Given the description of an element on the screen output the (x, y) to click on. 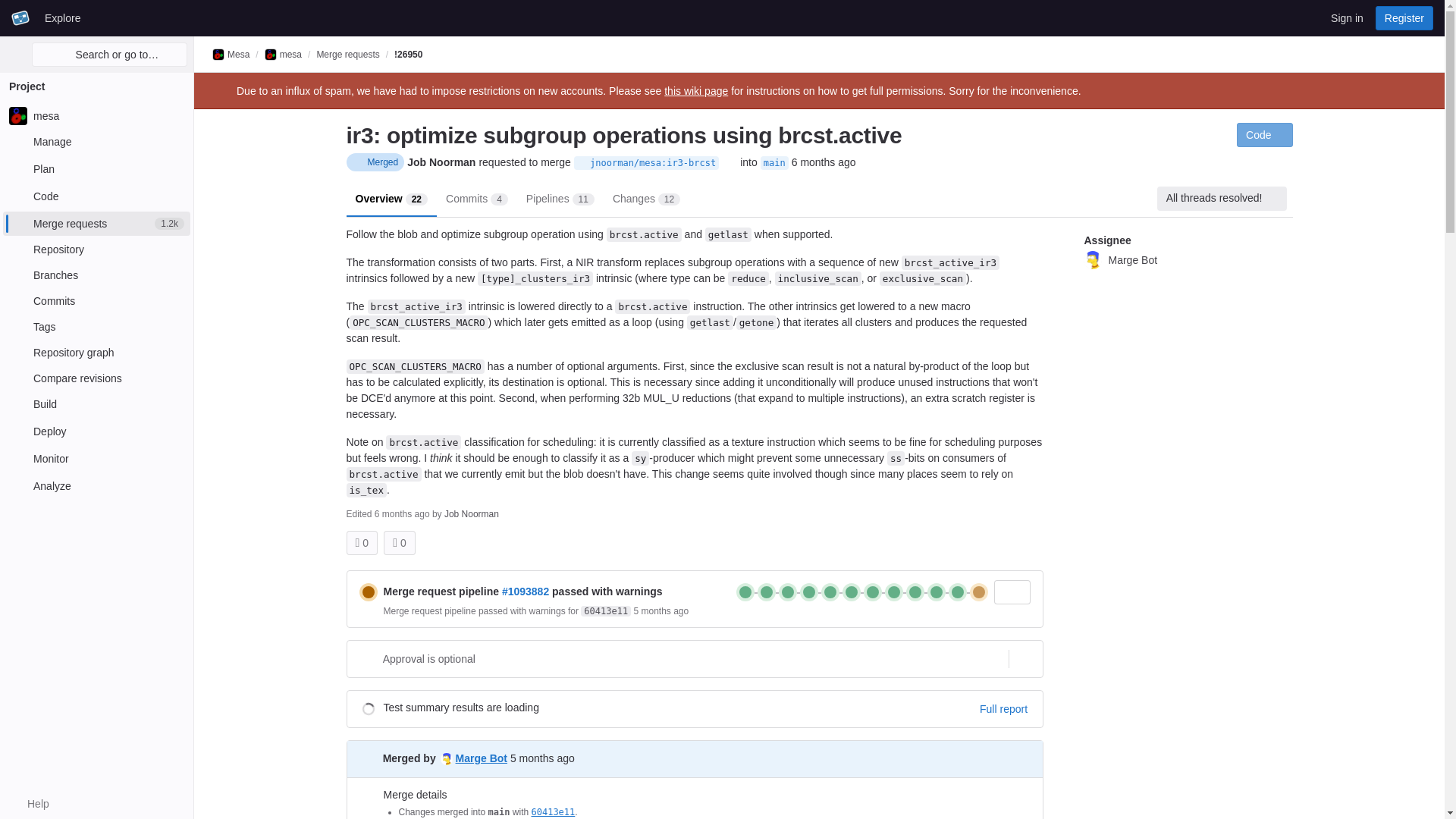
Plan (96, 168)
Repository (96, 249)
Register (1403, 17)
Manage (96, 141)
Explore (62, 17)
Sign in (1347, 17)
Monitor (96, 458)
Code (96, 196)
Tags (96, 326)
Compare revisions (96, 378)
Homepage (20, 17)
Deploy (96, 223)
Help (96, 431)
main (30, 803)
